Given the description of an element on the screen output the (x, y) to click on. 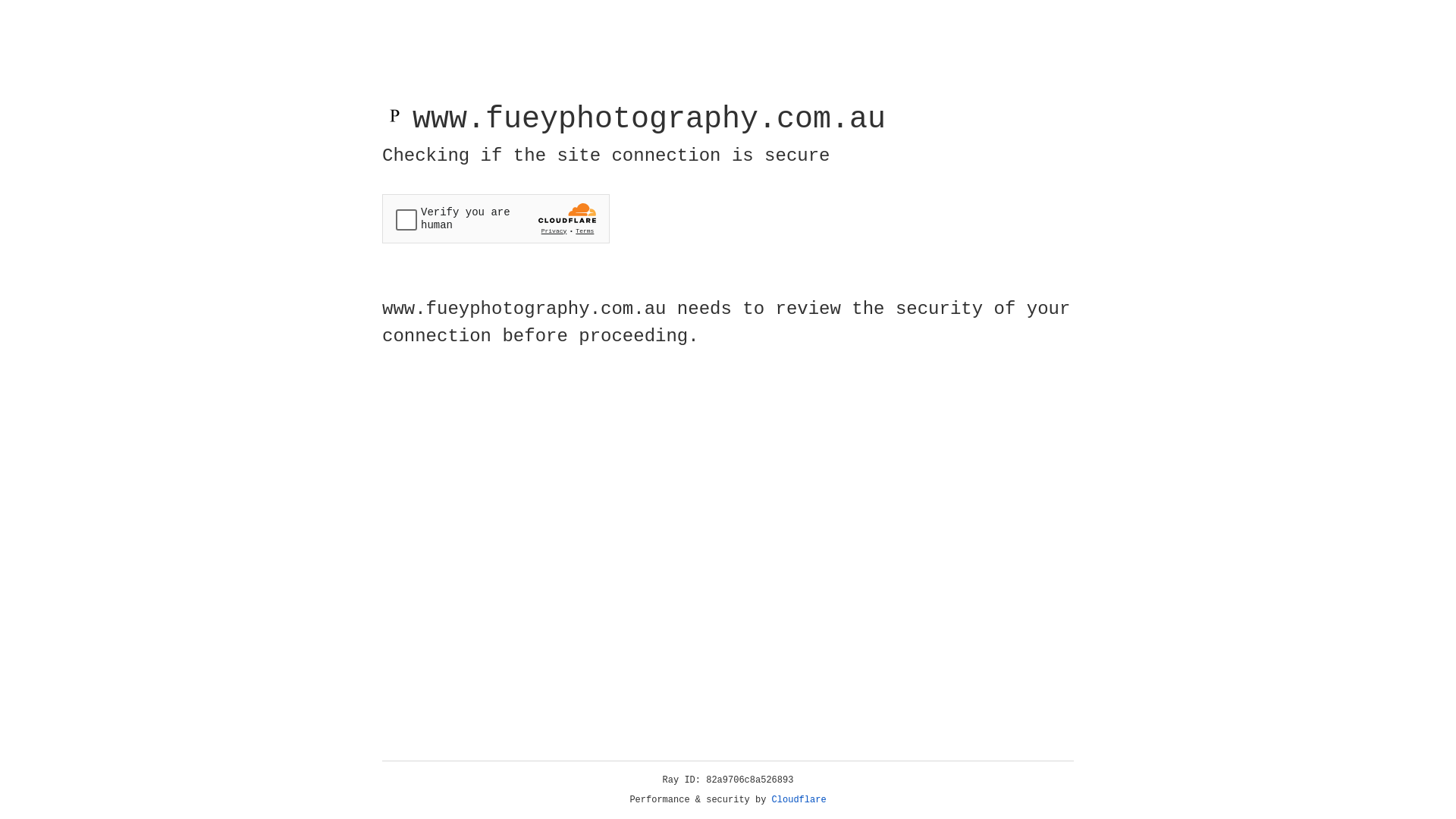
Widget containing a Cloudflare security challenge Element type: hover (495, 218)
Cloudflare Element type: text (798, 799)
